Given the description of an element on the screen output the (x, y) to click on. 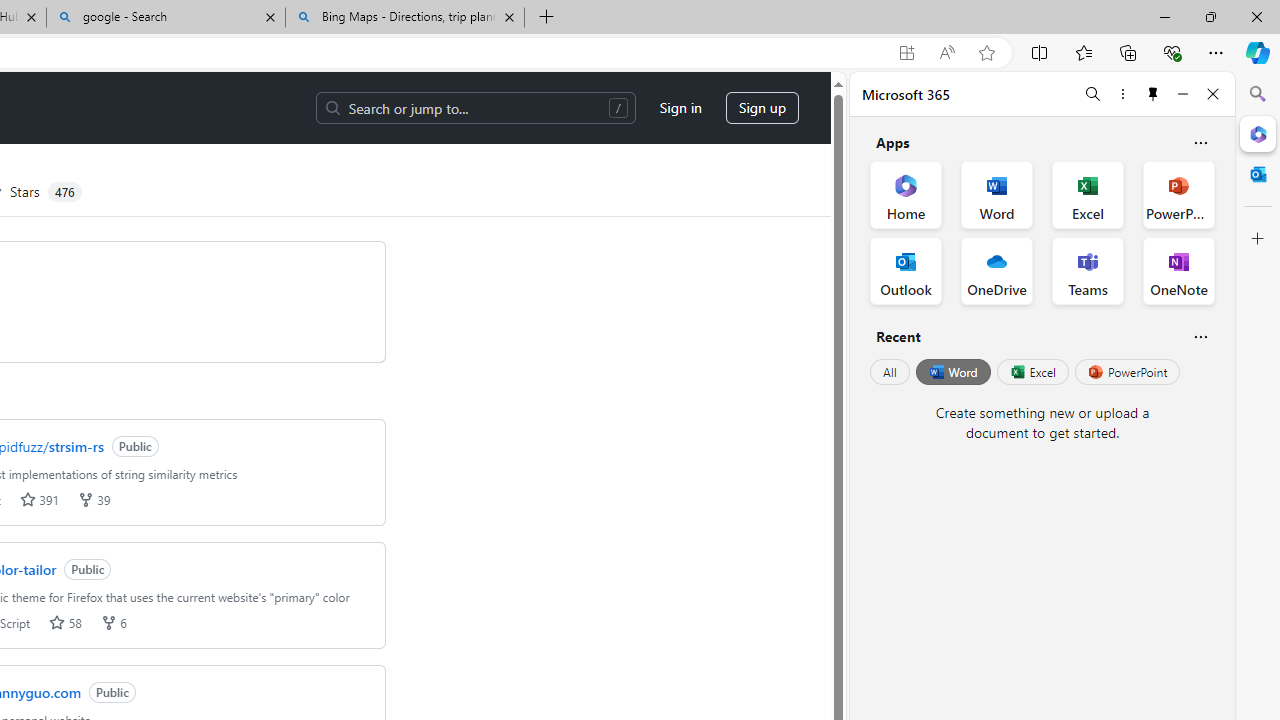
stars 391 (39, 499)
Outlook Office App (906, 270)
Home Office App (906, 194)
PowerPoint (1127, 372)
Word (952, 372)
